Given the description of an element on the screen output the (x, y) to click on. 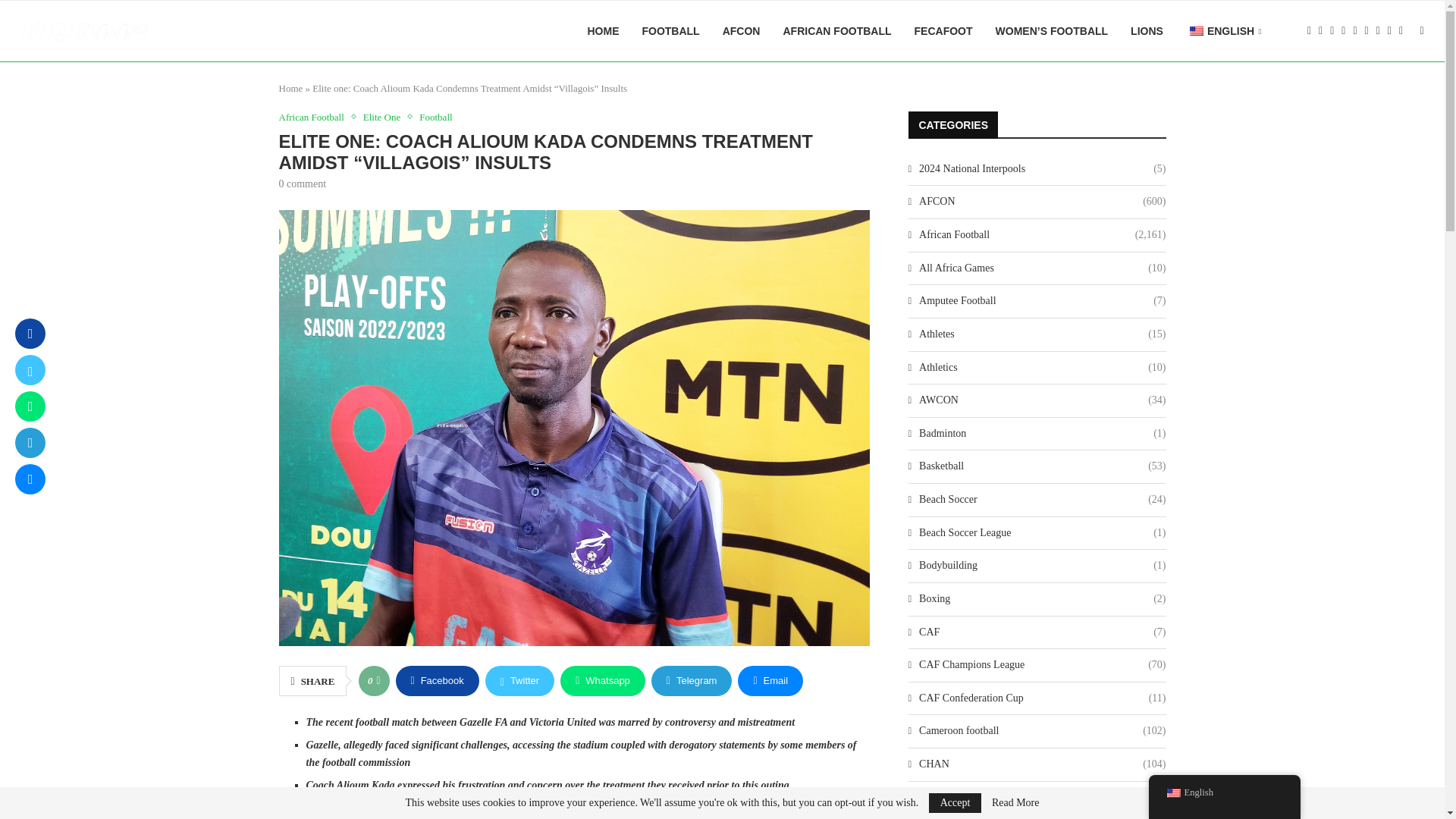
Football (435, 117)
Telegram (691, 680)
Home (290, 88)
Elite One (384, 117)
African Football (315, 117)
AFRICAN FOOTBALL (837, 30)
English (1196, 31)
Facebook (437, 680)
Email (770, 680)
FECAFOOT (943, 30)
ENGLISH (1224, 31)
Whatsapp (602, 680)
FOOTBALL (670, 30)
Twitter (519, 680)
